Given the description of an element on the screen output the (x, y) to click on. 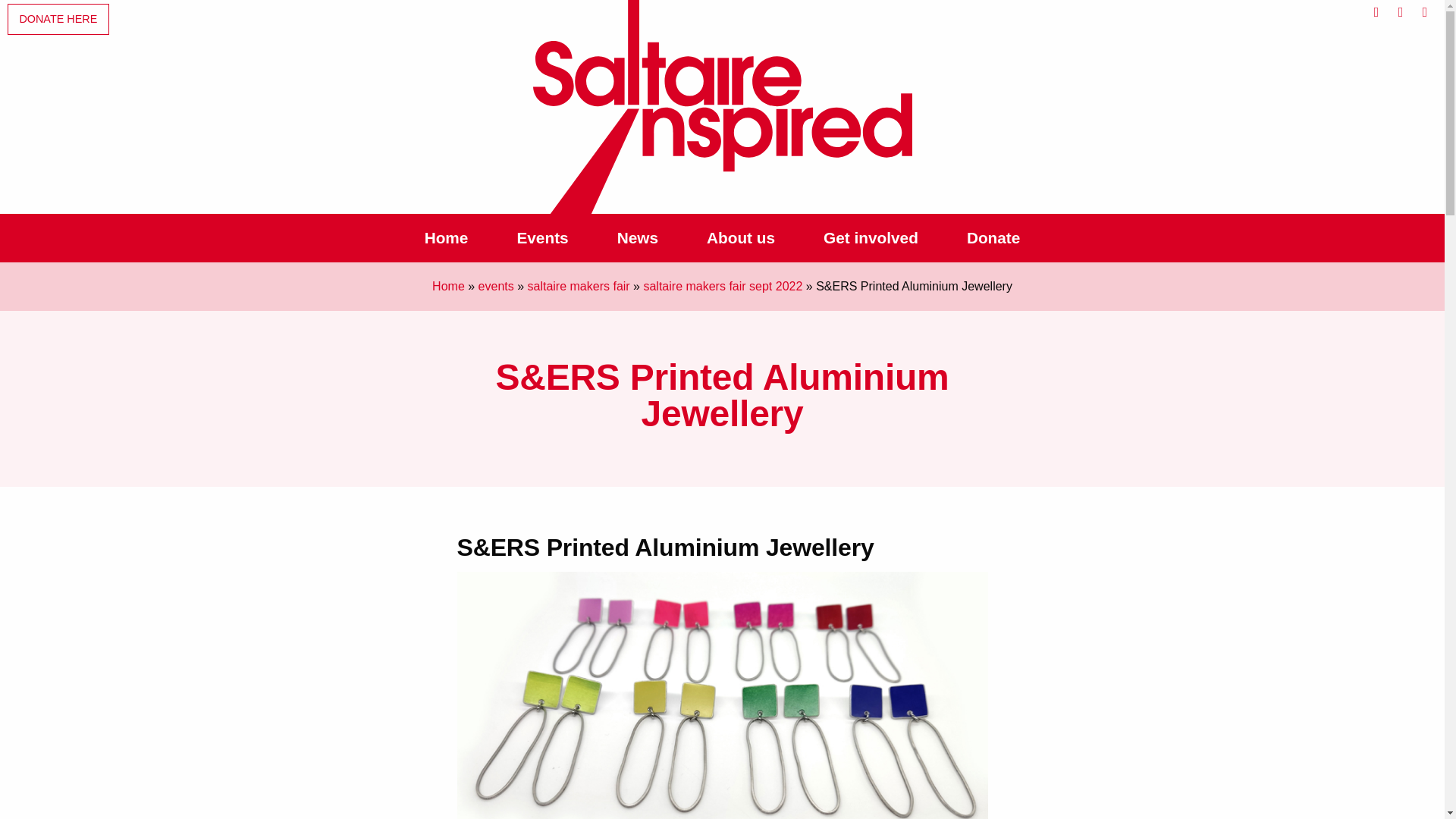
Home (446, 237)
Events (542, 237)
News (637, 237)
Donate (992, 237)
About us (740, 237)
facebook (1376, 11)
instagram (1424, 11)
DONATE HERE (58, 19)
Get involved (870, 237)
twitter (1400, 11)
